Given the description of an element on the screen output the (x, y) to click on. 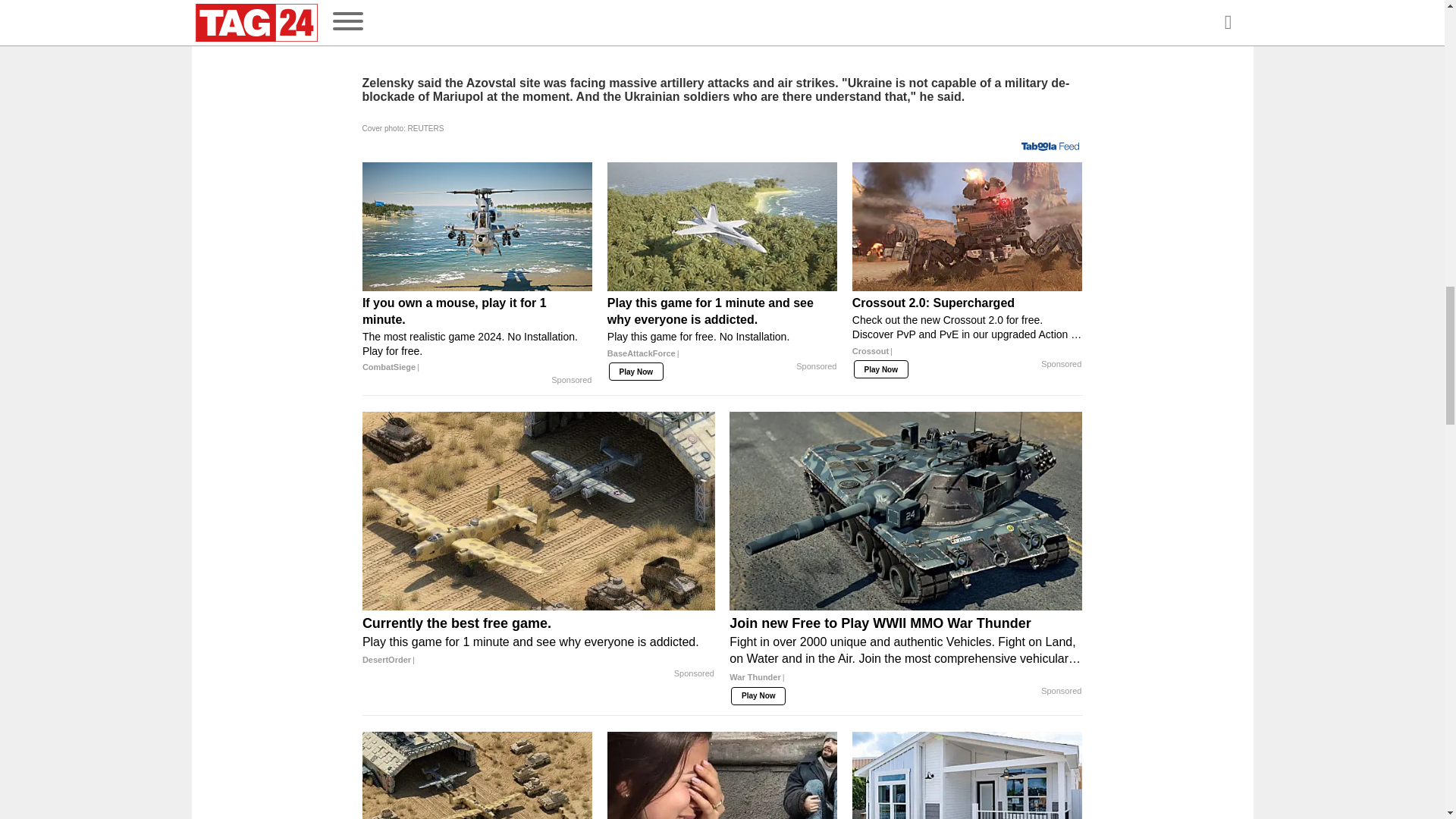
Sponsored (571, 380)
Sponsored (1061, 364)
Sponsored (815, 367)
Play Now (635, 371)
If you own a mouse, play it for 1 minute. (477, 334)
Play Now (880, 369)
Crossout 2.0: Supercharged (967, 331)
